Given the description of an element on the screen output the (x, y) to click on. 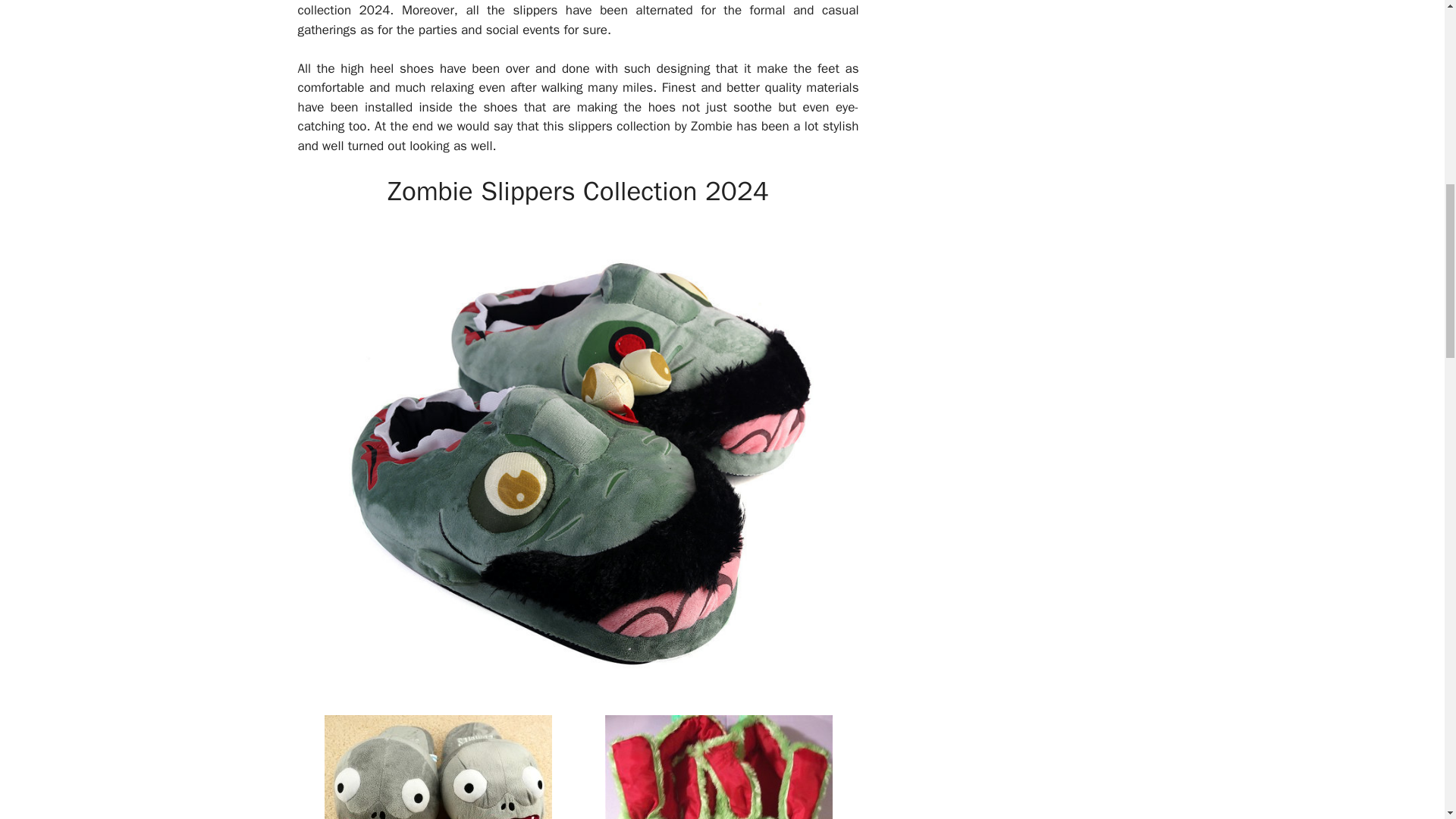
Scroll back to top (1406, 720)
